Given the description of an element on the screen output the (x, y) to click on. 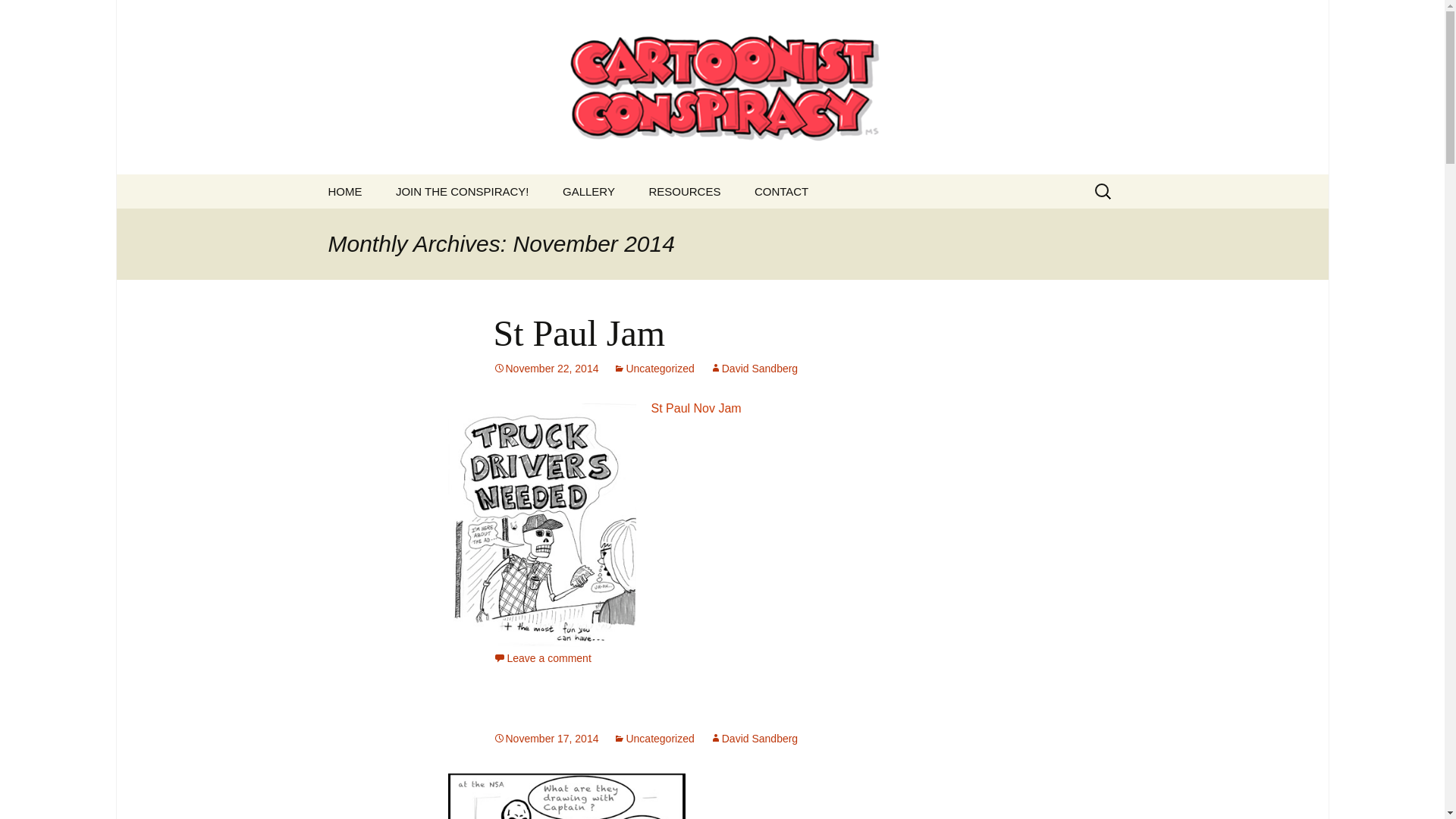
Leave a comment (542, 657)
Search (18, 15)
View all posts by David Sandberg (753, 368)
St Paul Jam (579, 332)
Uncategorized (653, 738)
HOME (345, 191)
CONTACT (781, 191)
View all posts by David Sandberg (753, 738)
St Paul Nov Jam (695, 408)
